Given the description of an element on the screen output the (x, y) to click on. 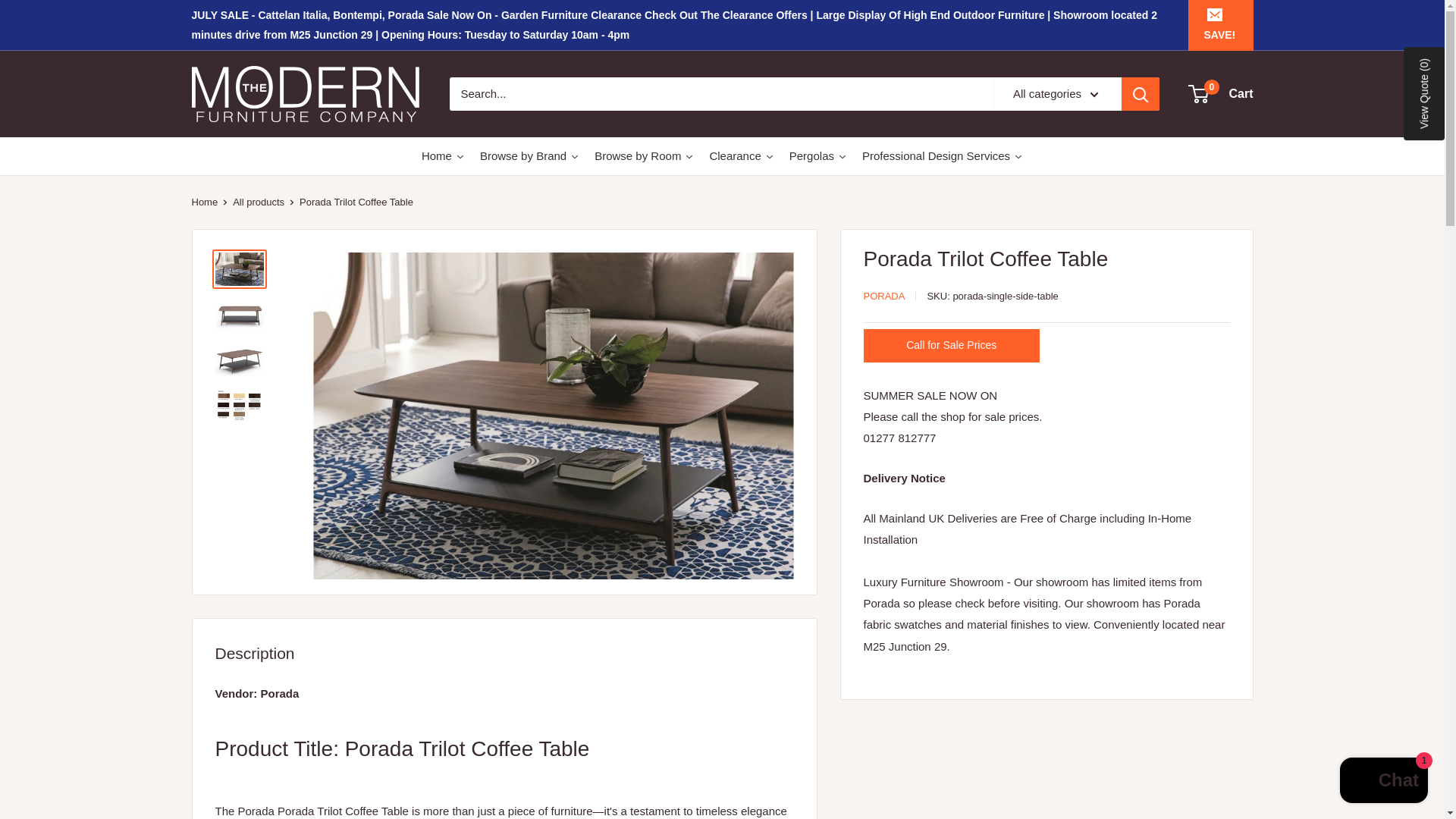
Home (442, 156)
Pergolas (817, 156)
Shopify online store chat (1383, 781)
Clearance (740, 156)
Browse by Room (643, 156)
Browse by Brand (528, 156)
SAVE! (1220, 24)
Professional Design Services (942, 156)
